Given the description of an element on the screen output the (x, y) to click on. 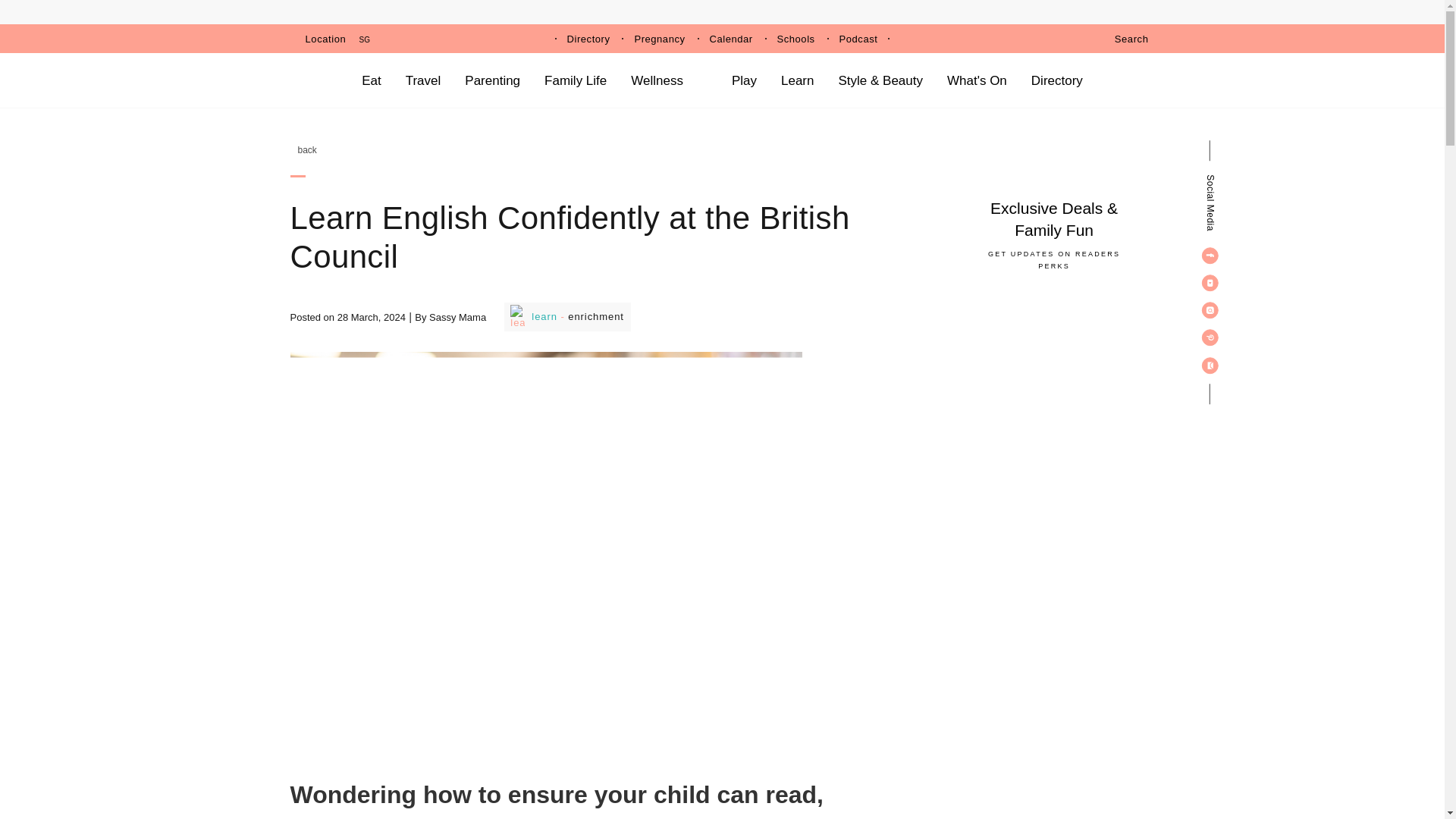
Calendar (731, 39)
Pregnancy (658, 39)
Sassy Mama Youtube (1209, 282)
Podcast (858, 39)
Sassy Mama Pinterest (1209, 337)
Sassy Mama Facebook Page (1209, 255)
Schools (796, 39)
Parenting (491, 80)
Directory (588, 39)
Travel (423, 80)
